Given the description of an element on the screen output the (x, y) to click on. 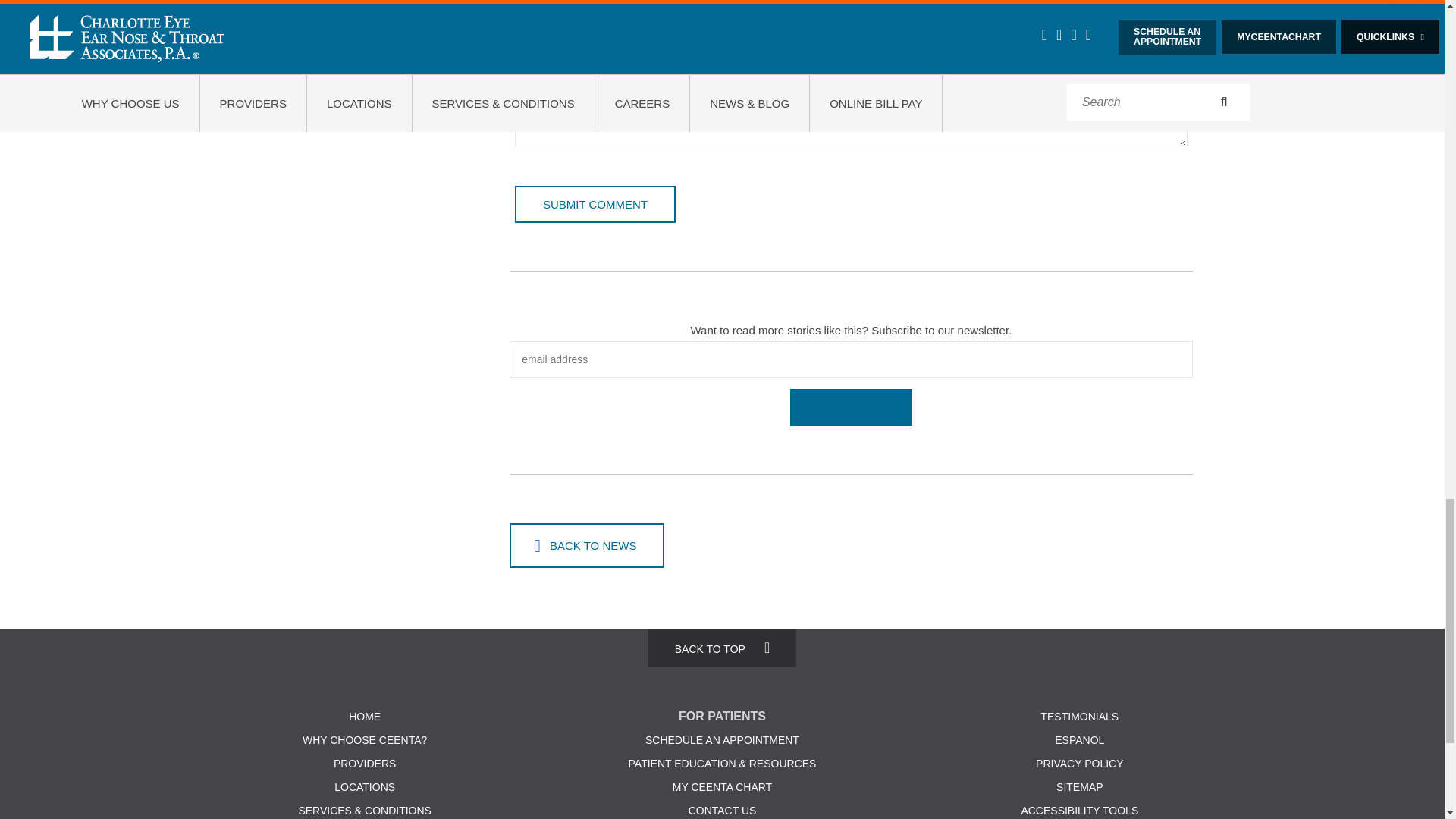
Subscribe (851, 407)
